Given the description of an element on the screen output the (x, y) to click on. 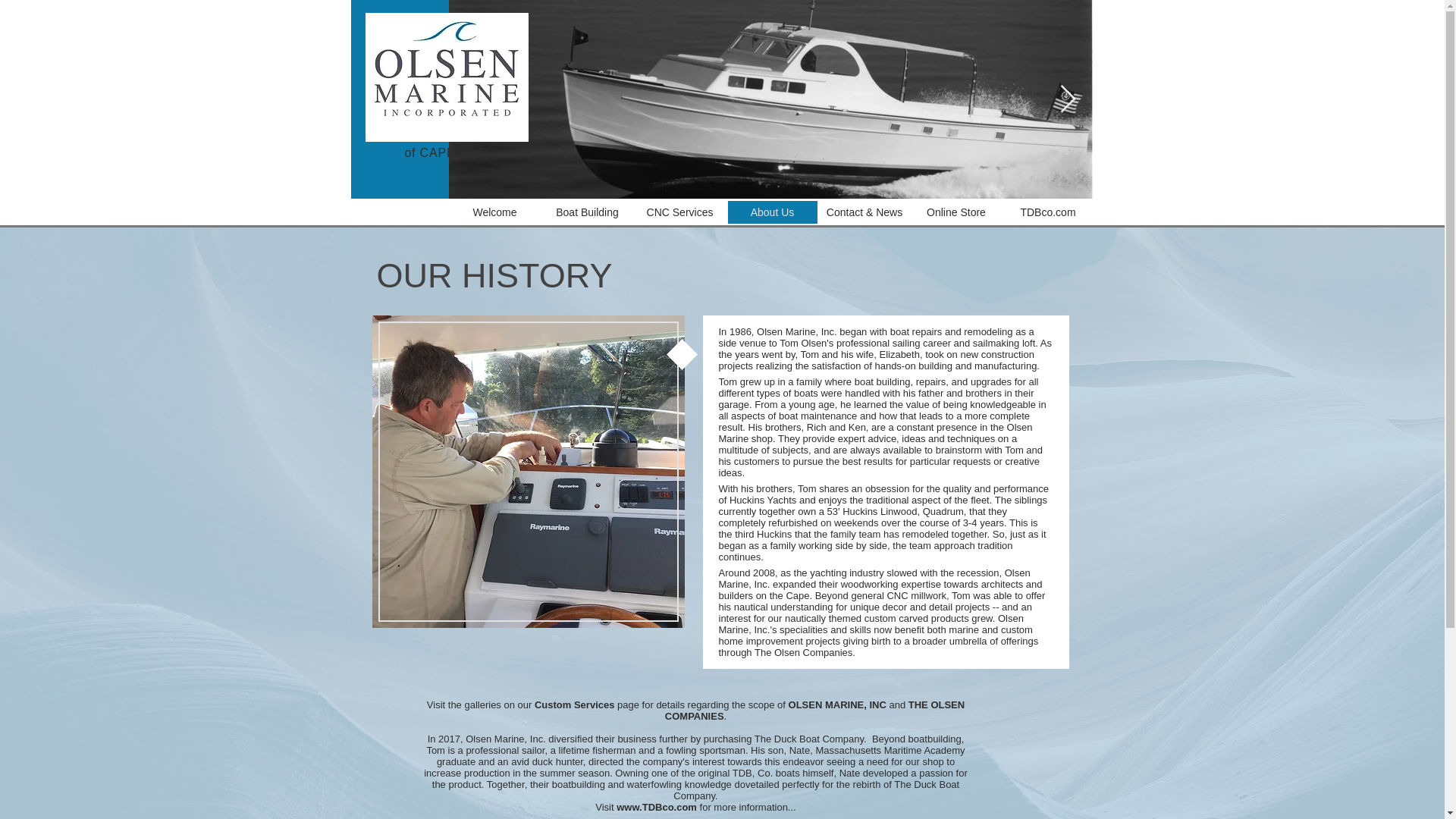
www.TDBco.com (656, 806)
Boat Building (587, 211)
of CAPE COD (445, 152)
CNC Services (679, 211)
Online Store (955, 211)
TDBco.com (1048, 211)
About Us (772, 211)
Welcome (494, 211)
Custom Services (574, 704)
